Given the description of an element on the screen output the (x, y) to click on. 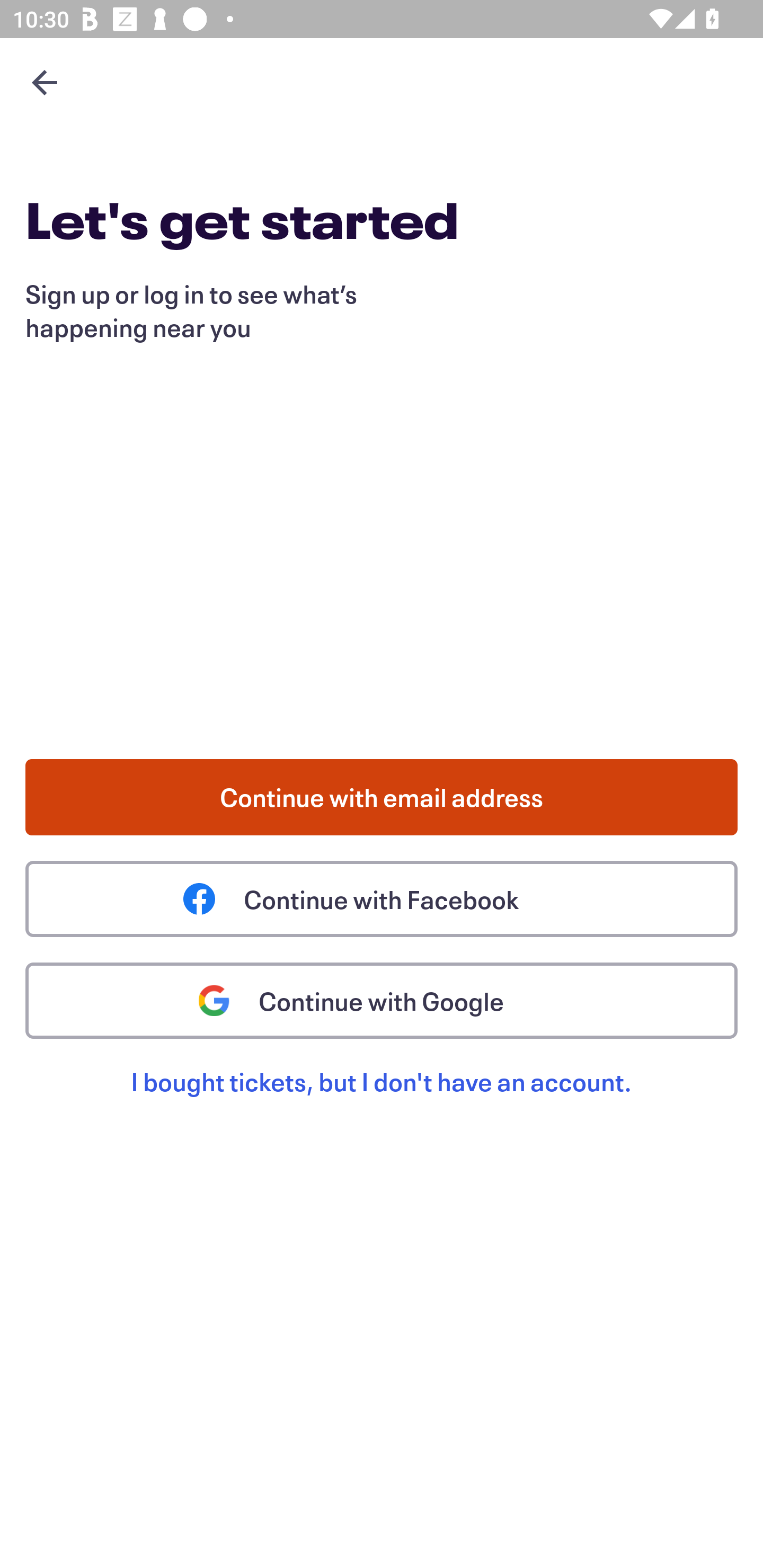
Navigate up (44, 82)
Continue with email address (381, 796)
I bought tickets, but I don't have an account. (381, 1101)
